Given the description of an element on the screen output the (x, y) to click on. 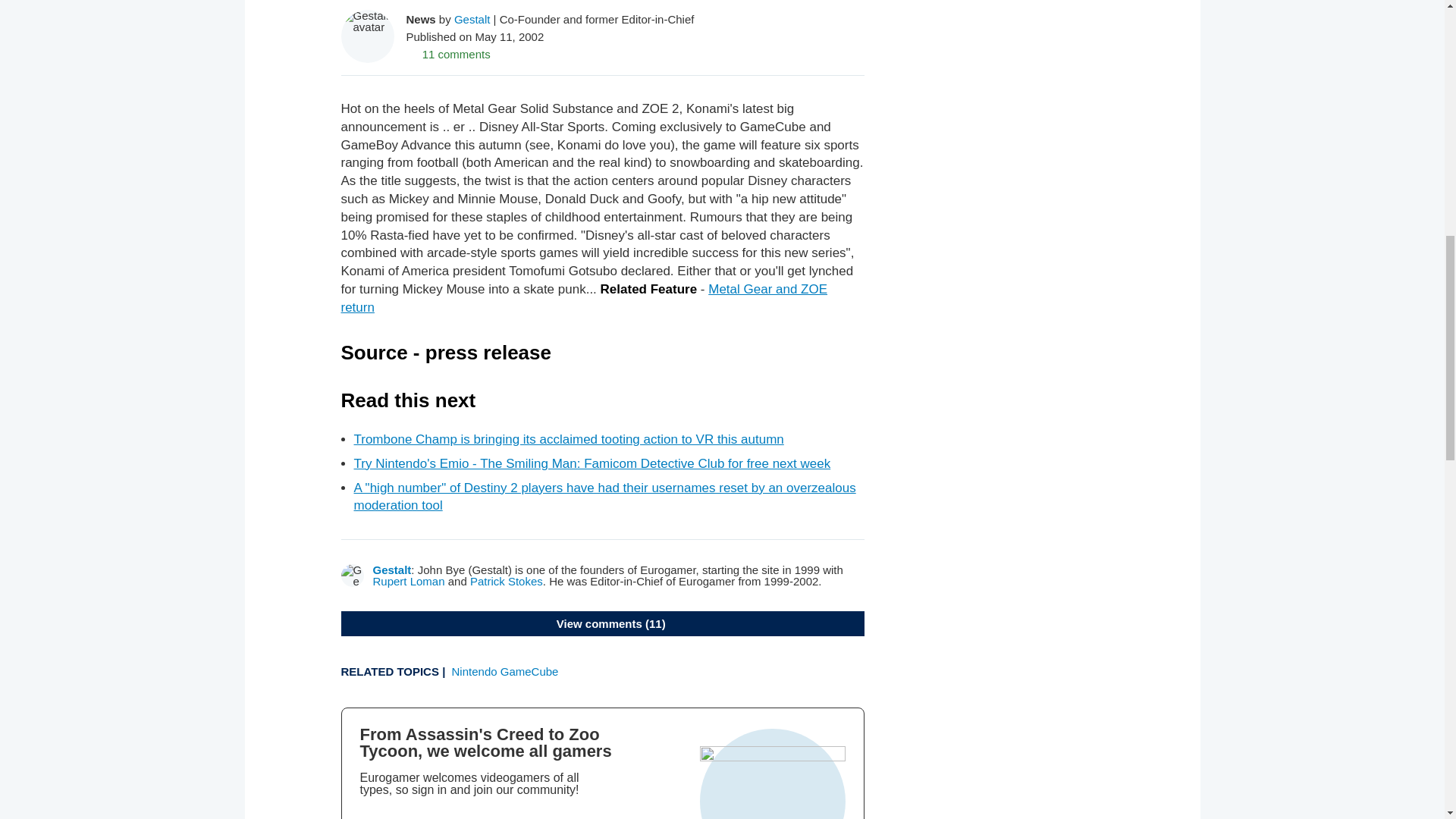
11 comments (448, 52)
Gestalt (392, 569)
Metal Gear and ZOE return (584, 297)
Gestalt (472, 18)
Nintendo GameCube (505, 671)
Rupert Loman (408, 581)
Patrick Stokes (506, 581)
